Given the description of an element on the screen output the (x, y) to click on. 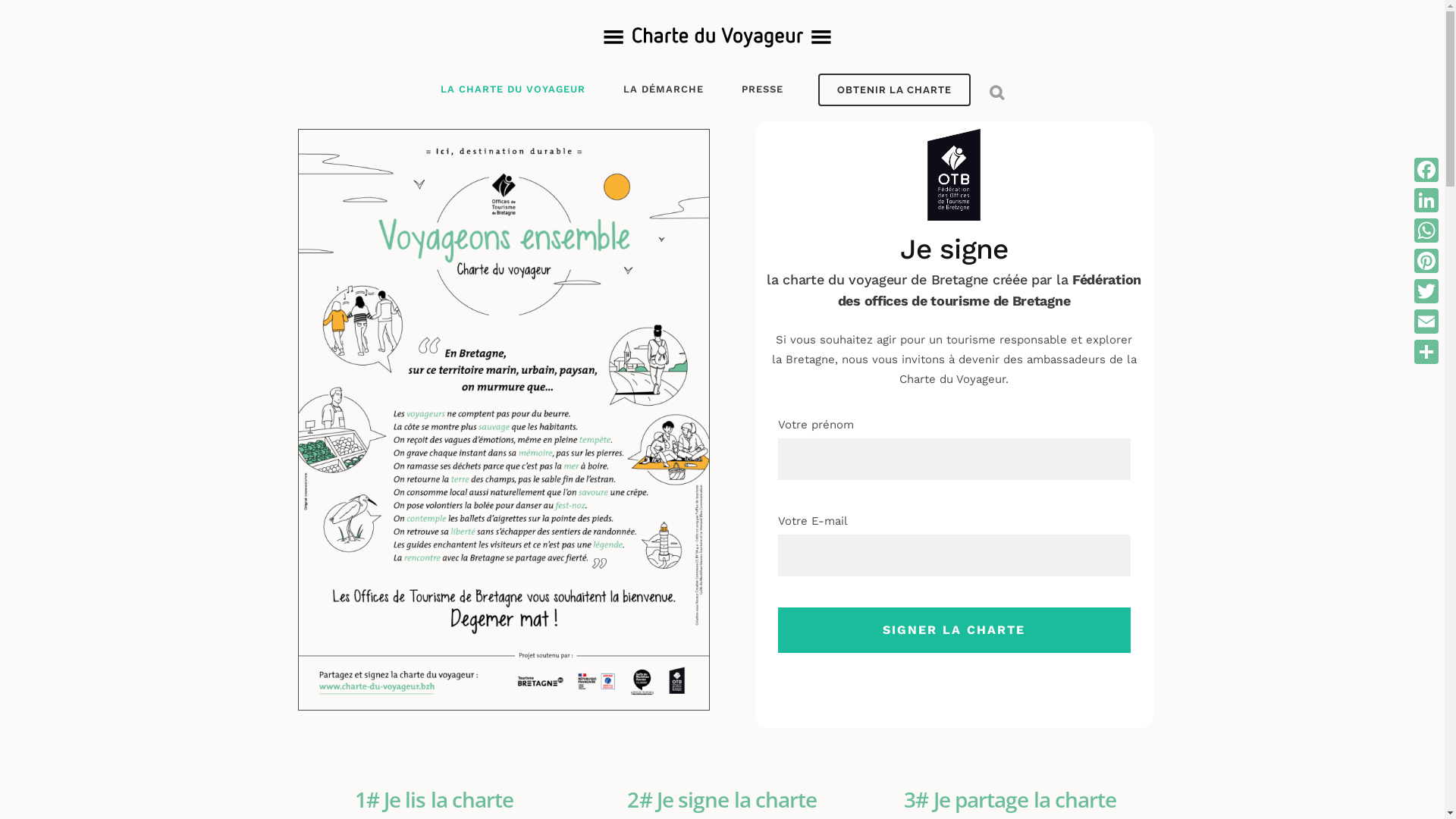
Facebook Element type: text (1426, 169)
Email Element type: text (1426, 321)
OBTENIR LA CHARTE Element type: text (893, 88)
Pinterest Element type: text (1426, 260)
LA CHARTE DU VOYAGEUR Element type: text (521, 89)
Partager Element type: text (1426, 351)
Signer la charte Element type: text (954, 629)
Twitter Element type: text (1426, 291)
WhatsApp Element type: text (1426, 230)
PRESSE Element type: text (761, 89)
LinkedIn Element type: text (1426, 200)
